Given the description of an element on the screen output the (x, y) to click on. 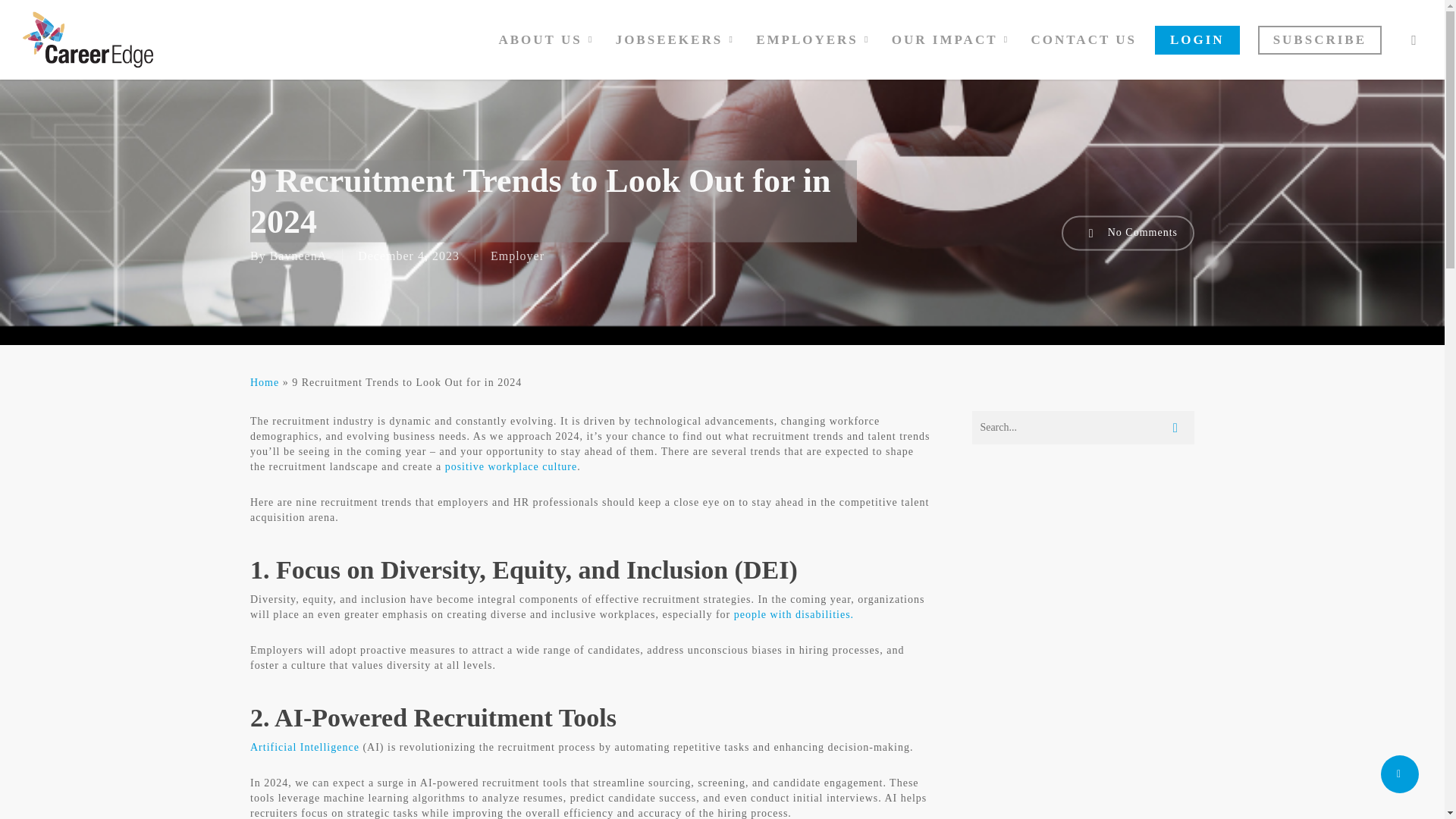
SUBSCRIBE (1319, 38)
JOBSEEKERS (677, 38)
Employer (517, 254)
CONTACT US (1083, 38)
Posts by BavneenA (298, 254)
Home (264, 382)
EMPLOYERS (814, 38)
people with disabilities. (793, 614)
Artificial Intelligence (304, 747)
No Comments (1127, 232)
Search for: (1082, 427)
OUR IMPACT (952, 38)
search (1414, 38)
BavneenA (298, 254)
positive workplace culture (511, 466)
